Given the description of an element on the screen output the (x, y) to click on. 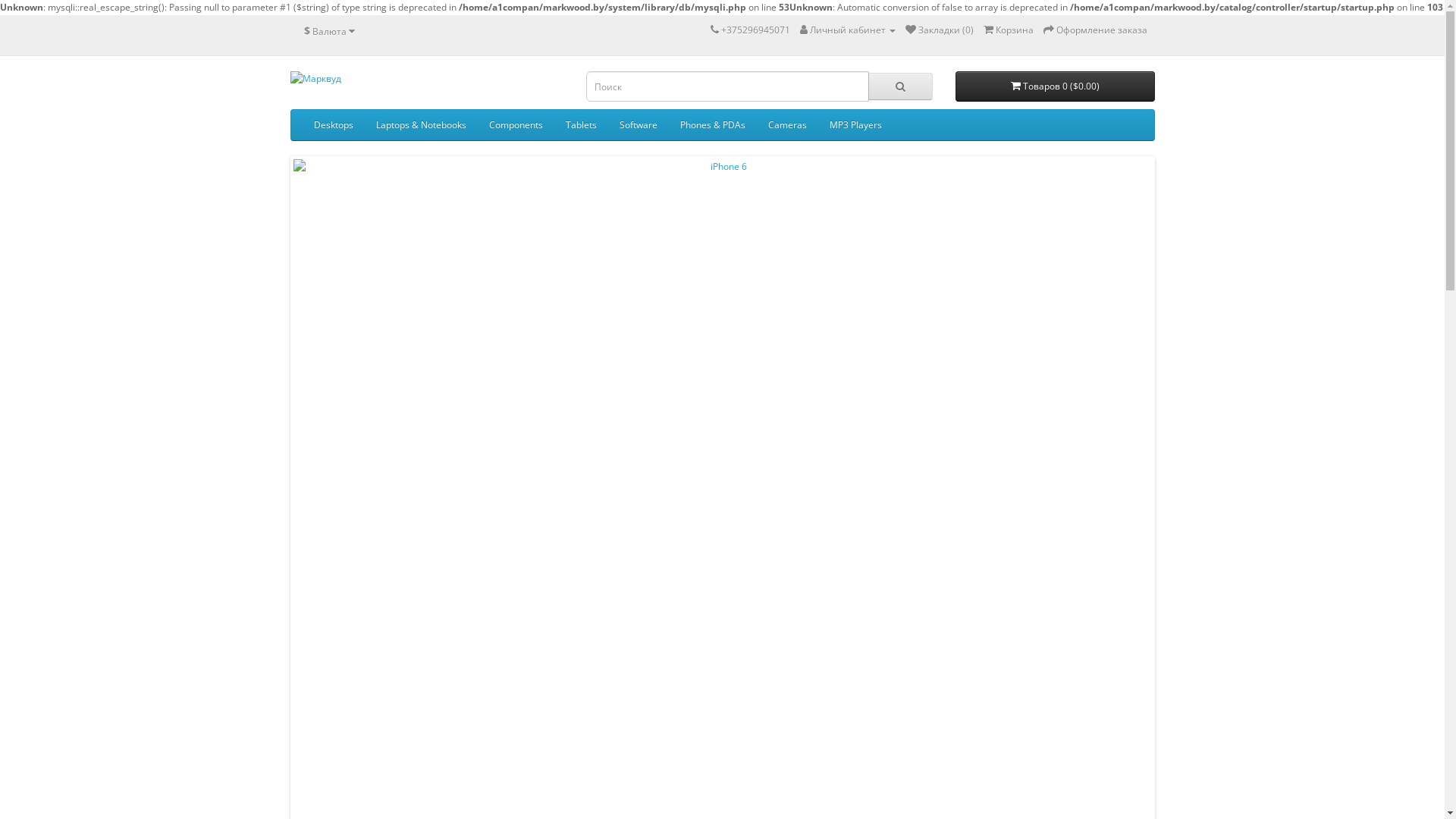
MP3 Players Element type: text (854, 124)
Desktops Element type: text (332, 124)
Tablets Element type: text (580, 124)
Software Element type: text (638, 124)
Phones & PDAs Element type: text (712, 124)
Cameras Element type: text (787, 124)
Laptops & Notebooks Element type: text (420, 124)
Components Element type: text (515, 124)
